Given the description of an element on the screen output the (x, y) to click on. 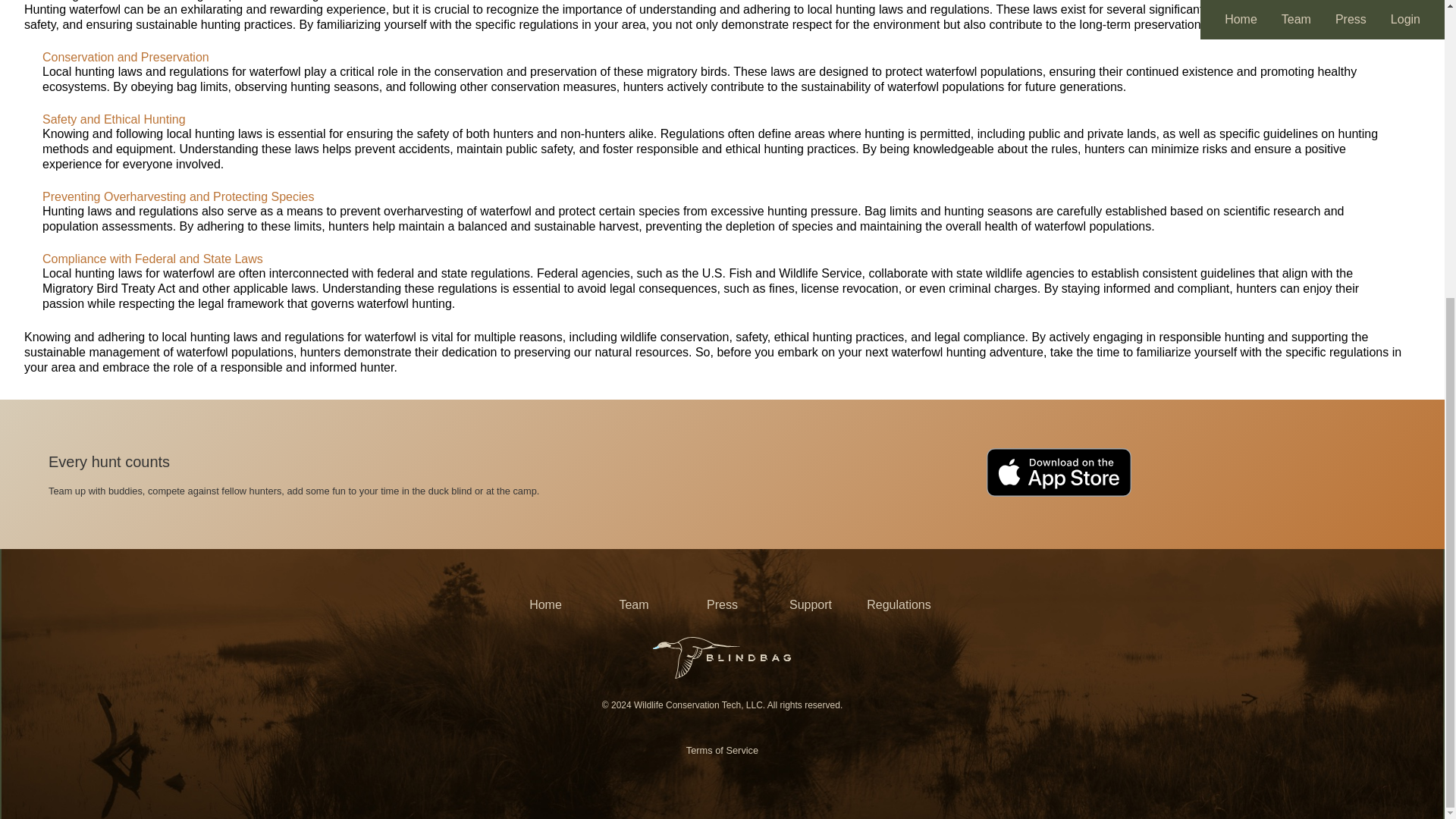
Press (722, 604)
Terms of Service (721, 750)
Team (634, 604)
Support (810, 604)
Home (545, 604)
Regulations (898, 604)
